Given the description of an element on the screen output the (x, y) to click on. 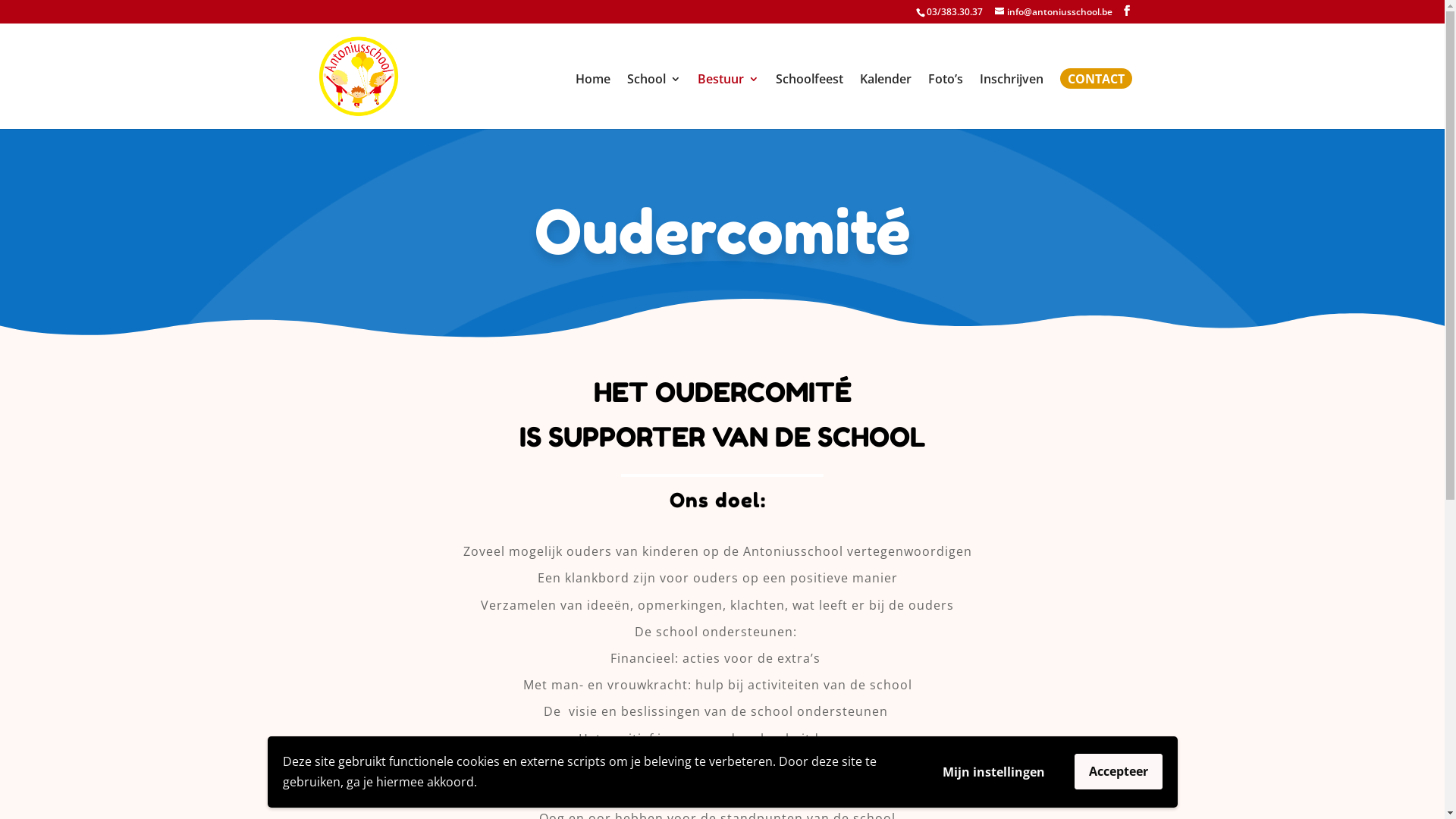
Kalender Element type: text (885, 100)
info@antoniusschool.be Element type: text (1053, 11)
Schoolfeest Element type: text (808, 100)
Mijn instellingen Element type: text (993, 771)
CONTACT Element type: text (1095, 100)
Bestuur Element type: text (728, 100)
School Element type: text (653, 100)
Accepteer Element type: text (1117, 771)
Home Element type: text (591, 100)
Inschrijven Element type: text (1011, 100)
